Given the description of an element on the screen output the (x, y) to click on. 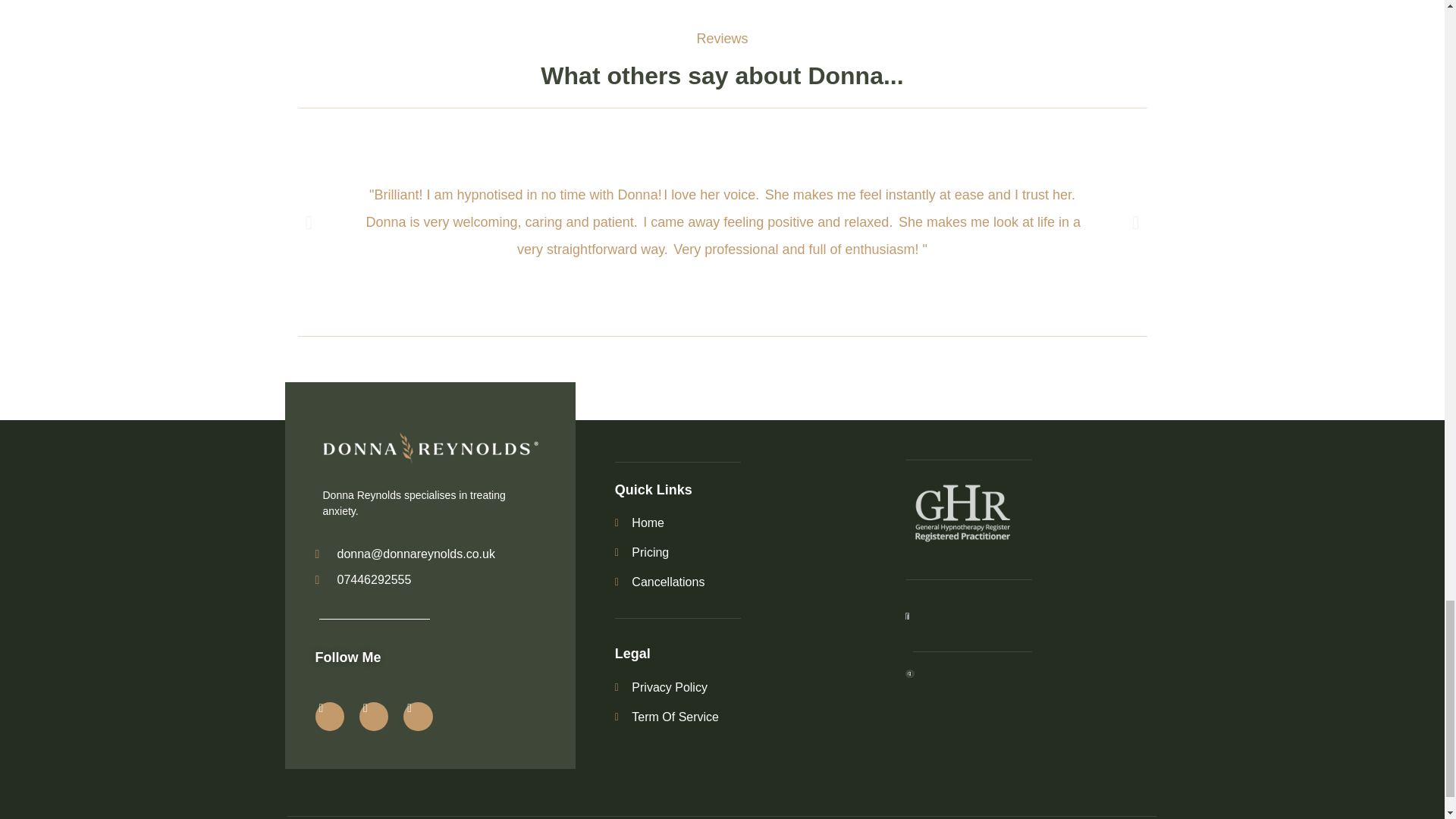
Term Of Service (740, 717)
Cancellations (740, 582)
Home (740, 523)
Pricing (740, 552)
